Given the description of an element on the screen output the (x, y) to click on. 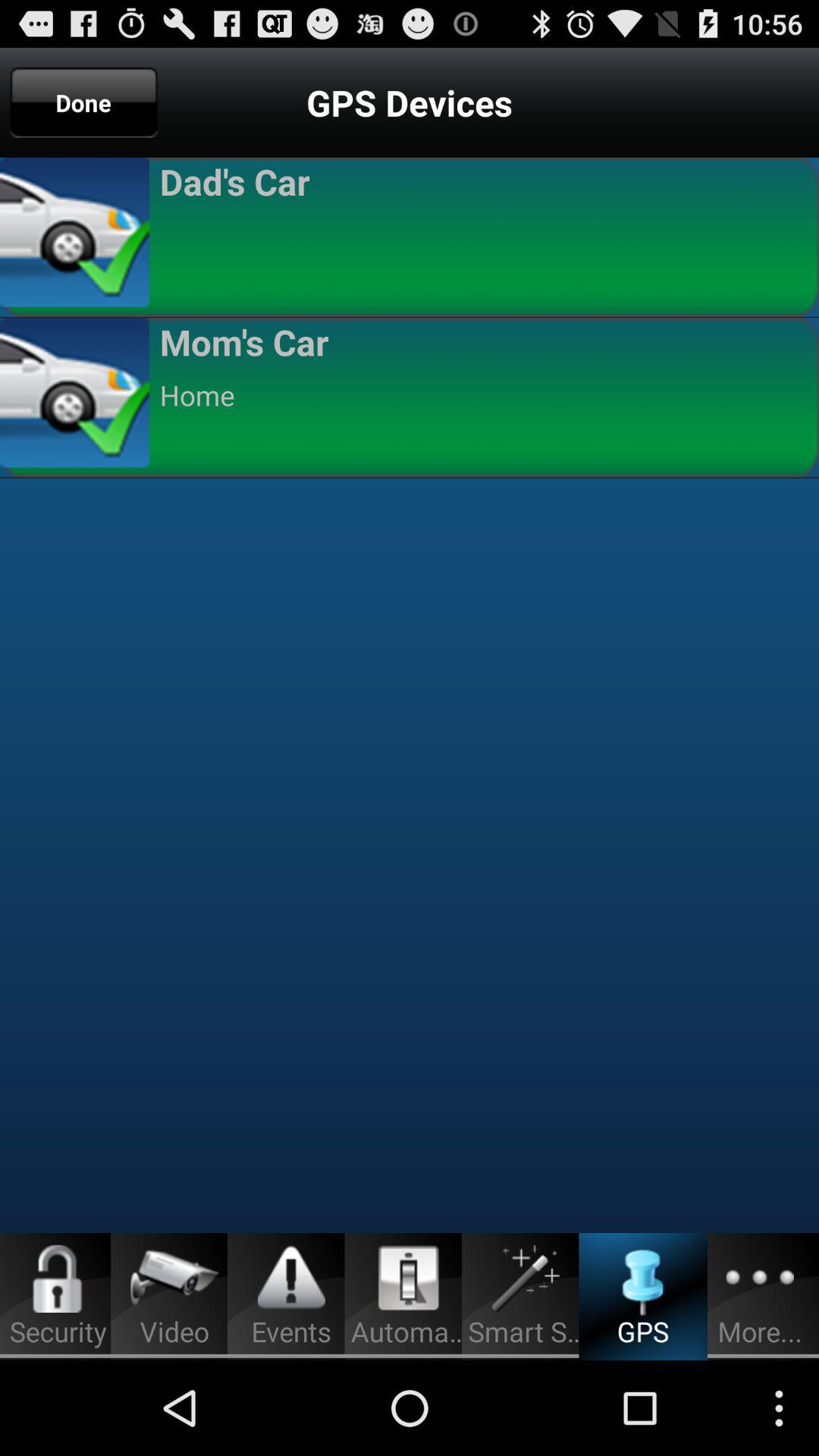
open the done (83, 102)
